Given the description of an element on the screen output the (x, y) to click on. 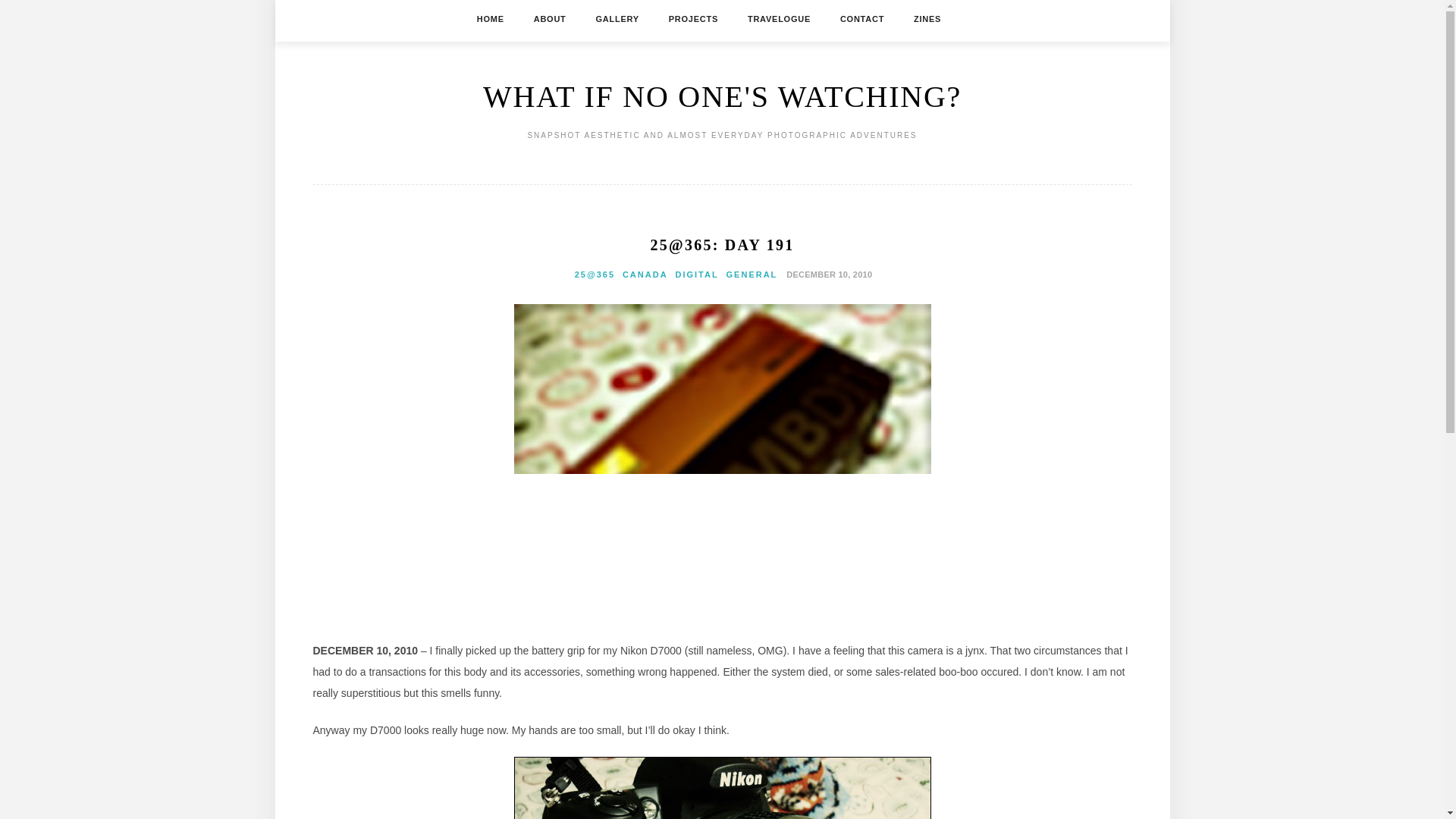
TRAVELOGUE (779, 18)
Search (24, 9)
PROJECTS (692, 18)
DECEMBER 10, 2010 (827, 273)
CANADA (645, 274)
GENERAL (751, 274)
CONTACT (861, 18)
DIGITAL (696, 274)
GALLERY (617, 18)
WHAT IF NO ONE'S WATCHING? (721, 96)
